Given the description of an element on the screen output the (x, y) to click on. 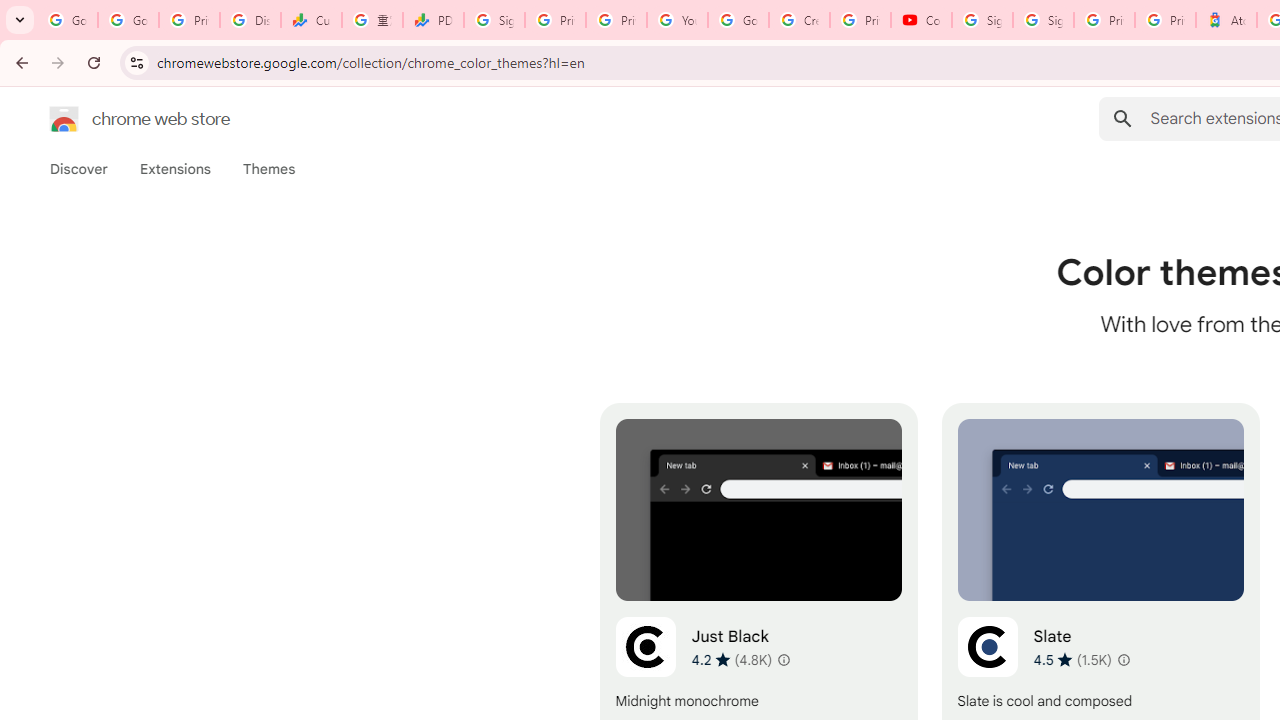
Sign in - Google Accounts (493, 20)
Content Creator Programs & Opportunities - YouTube Creators (921, 20)
Learn more about results and reviews "Just Black" (782, 659)
Learn more about results and reviews "Slate" (1122, 659)
Sign in - Google Accounts (1042, 20)
